Given the description of an element on the screen output the (x, y) to click on. 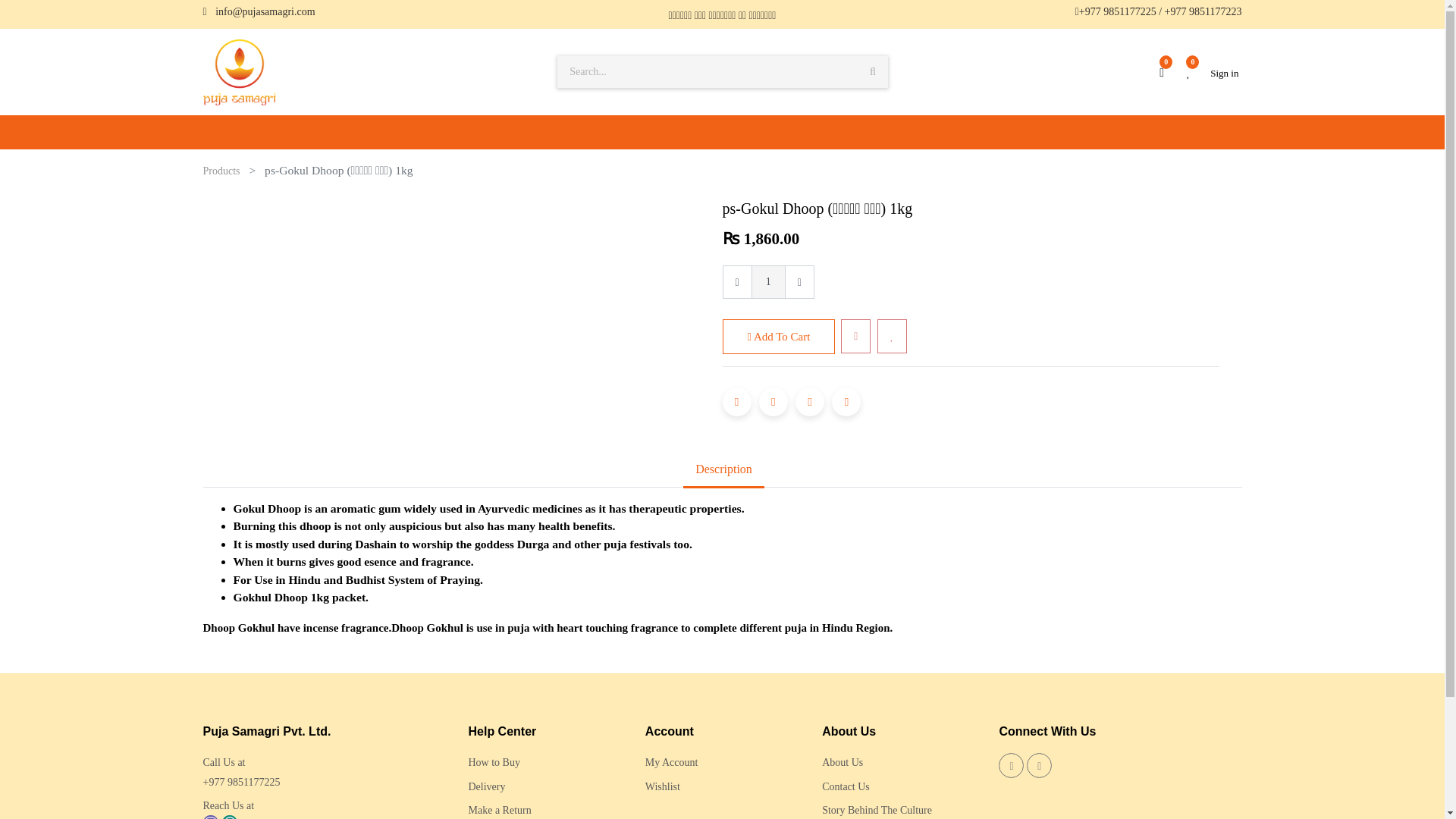
Puja Samagri (239, 70)
Search (872, 71)
Sign in (1224, 72)
1 (768, 282)
